Given the description of an element on the screen output the (x, y) to click on. 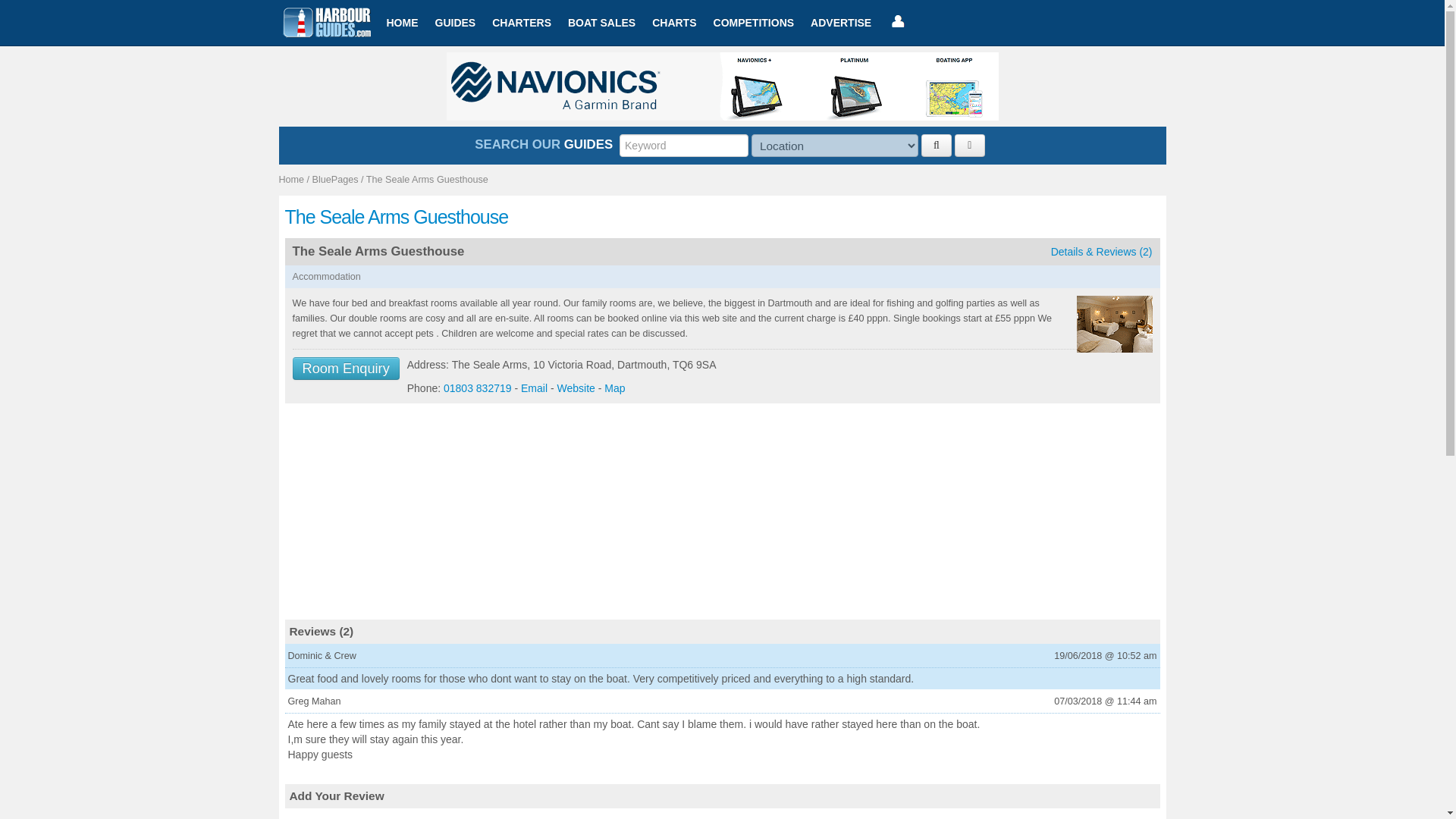
GUIDES (454, 22)
01803 832719 (478, 387)
Guides (454, 22)
Boat Sales (601, 22)
The Seale Arms Guesthouse (722, 217)
Map (614, 387)
The Seale Arms Guesthouse (426, 179)
CHARTS (673, 22)
Advertise (840, 22)
COMPETITIONS (753, 22)
BluePages (335, 179)
Home (401, 22)
Charters (521, 22)
Charts (673, 22)
Competitions (753, 22)
